Given the description of an element on the screen output the (x, y) to click on. 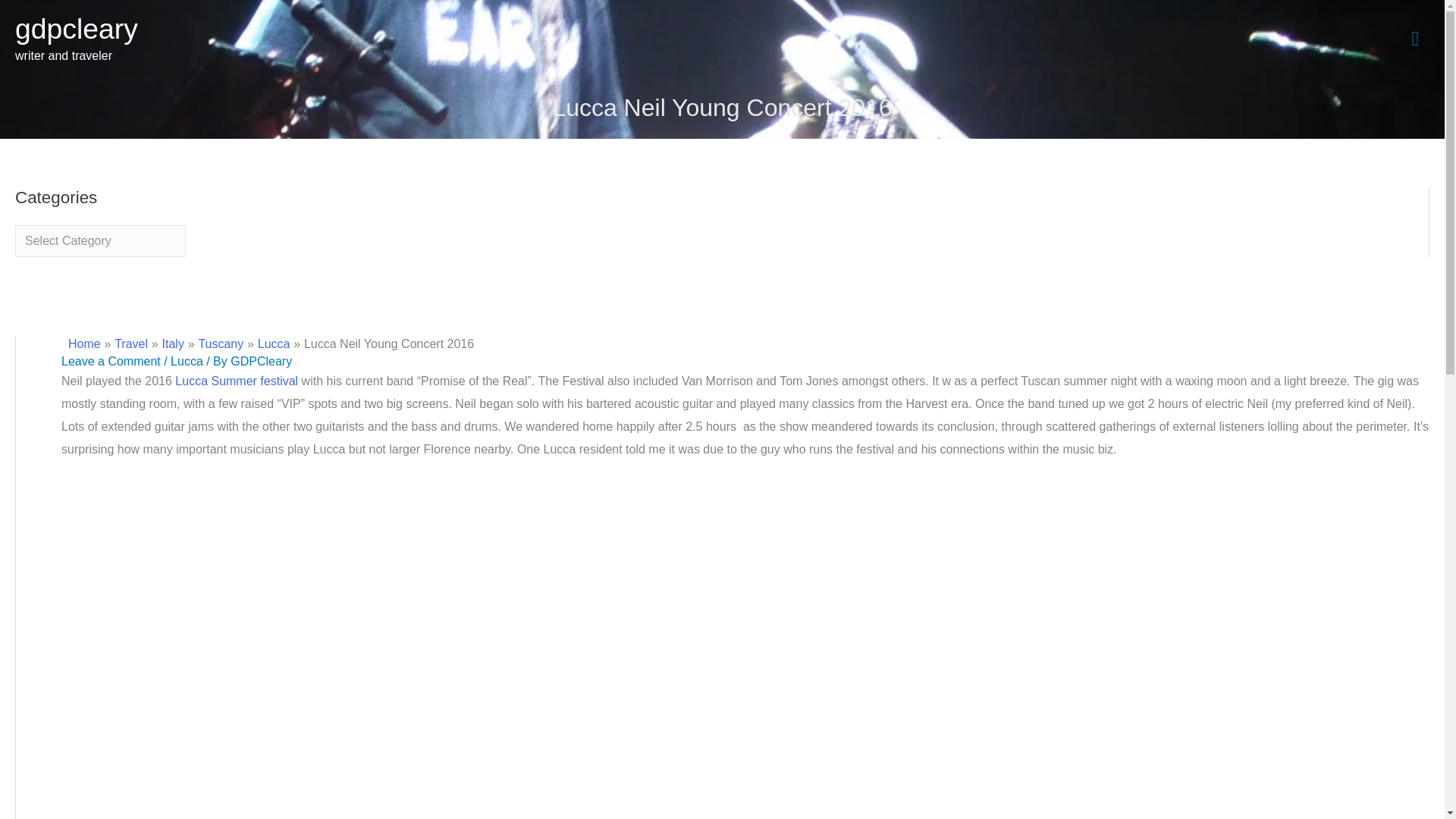
gdpcleary (76, 29)
GDPCleary (261, 360)
Leave a Comment (110, 360)
Travel (131, 343)
Italy (172, 343)
Lucca (273, 343)
Lucca Summer festival (236, 380)
Home (84, 343)
View all posts by GDPCleary (261, 360)
Tuscany (220, 343)
Lucca (186, 360)
